Given the description of an element on the screen output the (x, y) to click on. 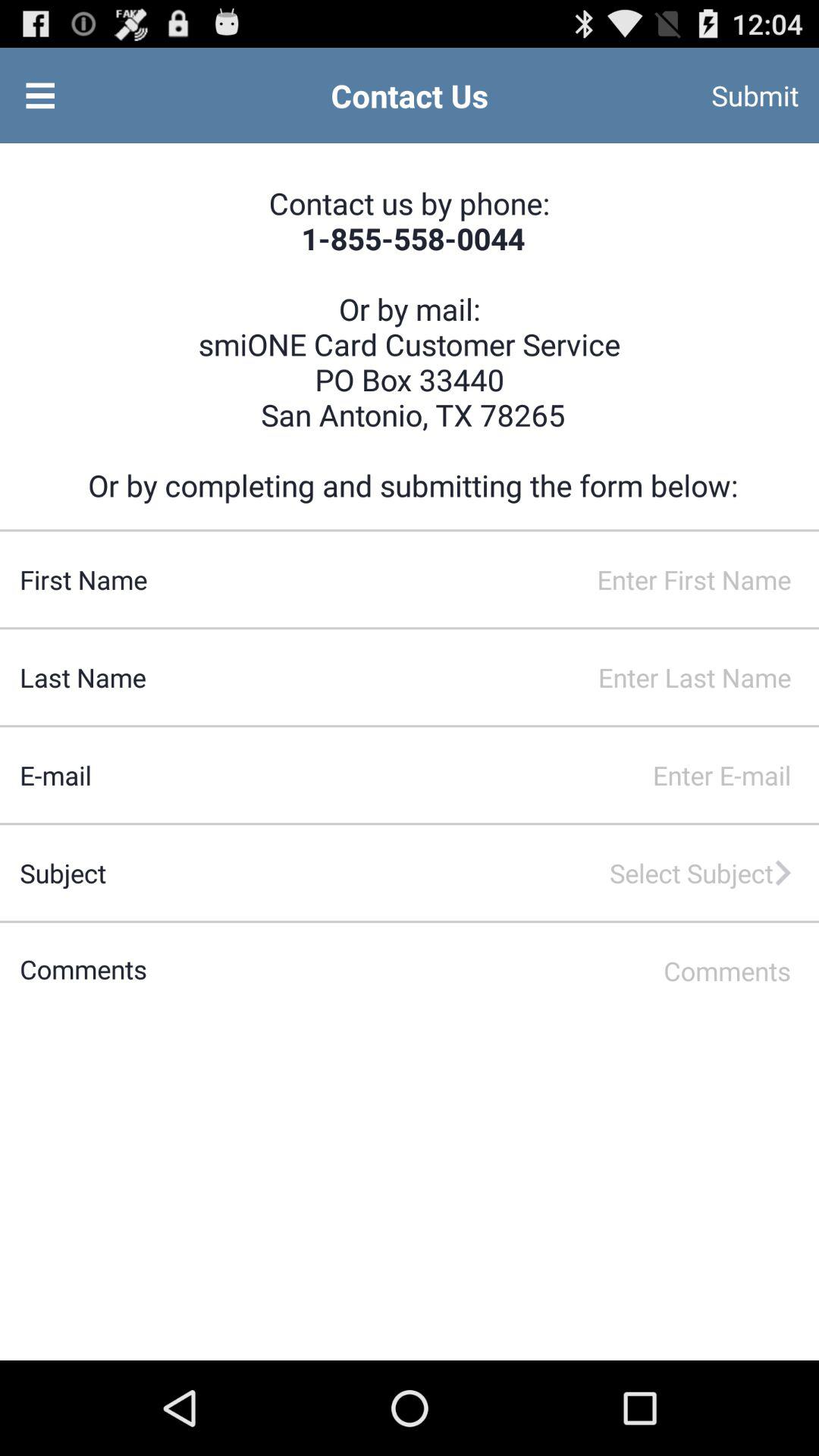
add text (483, 970)
